Given the description of an element on the screen output the (x, y) to click on. 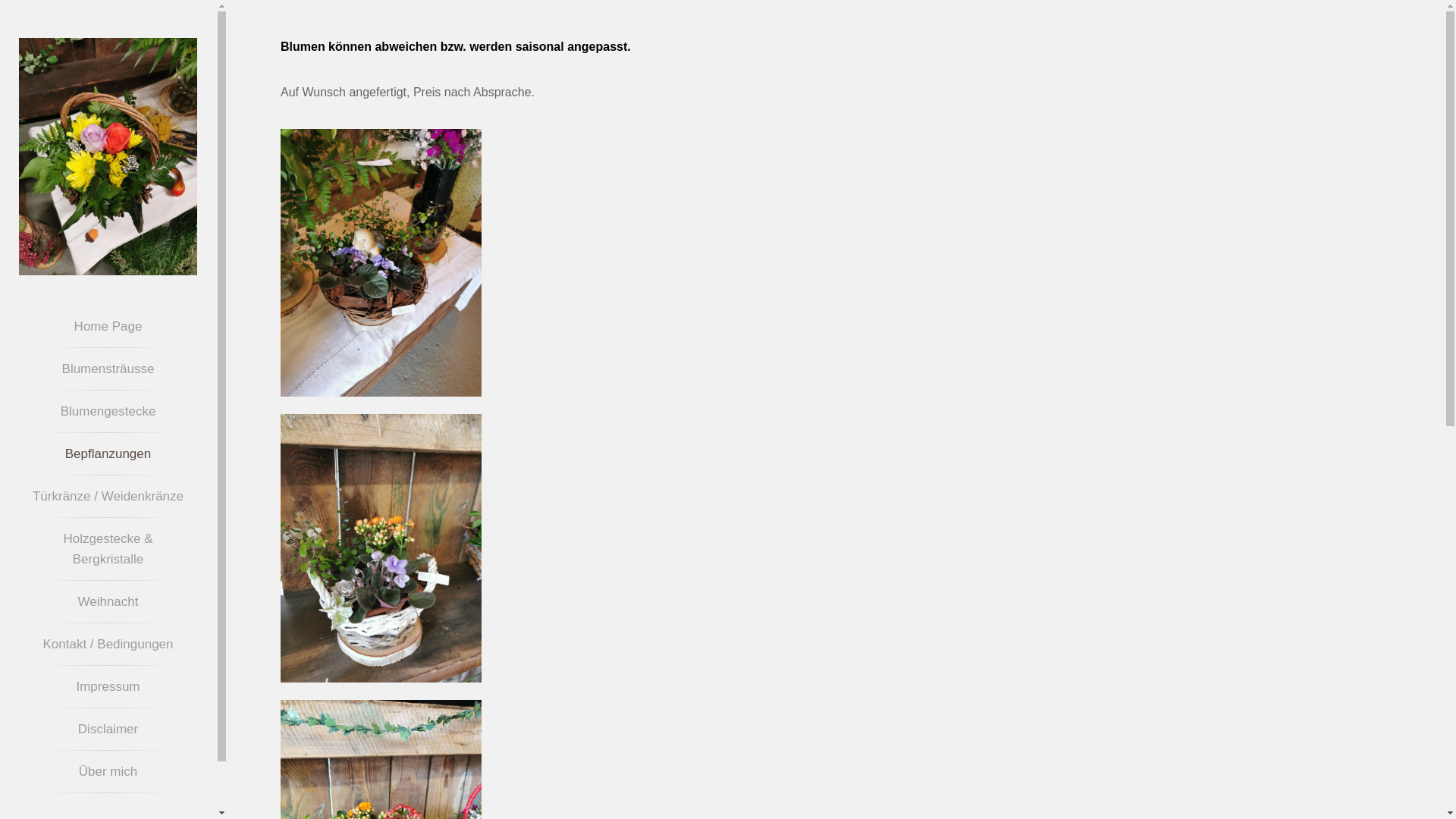
Kontakt / Bedingungen Element type: text (107, 644)
Bepflanzungen Element type: text (107, 453)
logo Element type: hover (107, 156)
Impressum Element type: text (107, 686)
Disclaimer Element type: text (107, 728)
Home Page Element type: text (107, 326)
Weihnacht Element type: text (107, 601)
Blumengestecke Element type: text (107, 411)
Holzgestecke & Bergkristalle Element type: text (107, 548)
